Given the description of an element on the screen output the (x, y) to click on. 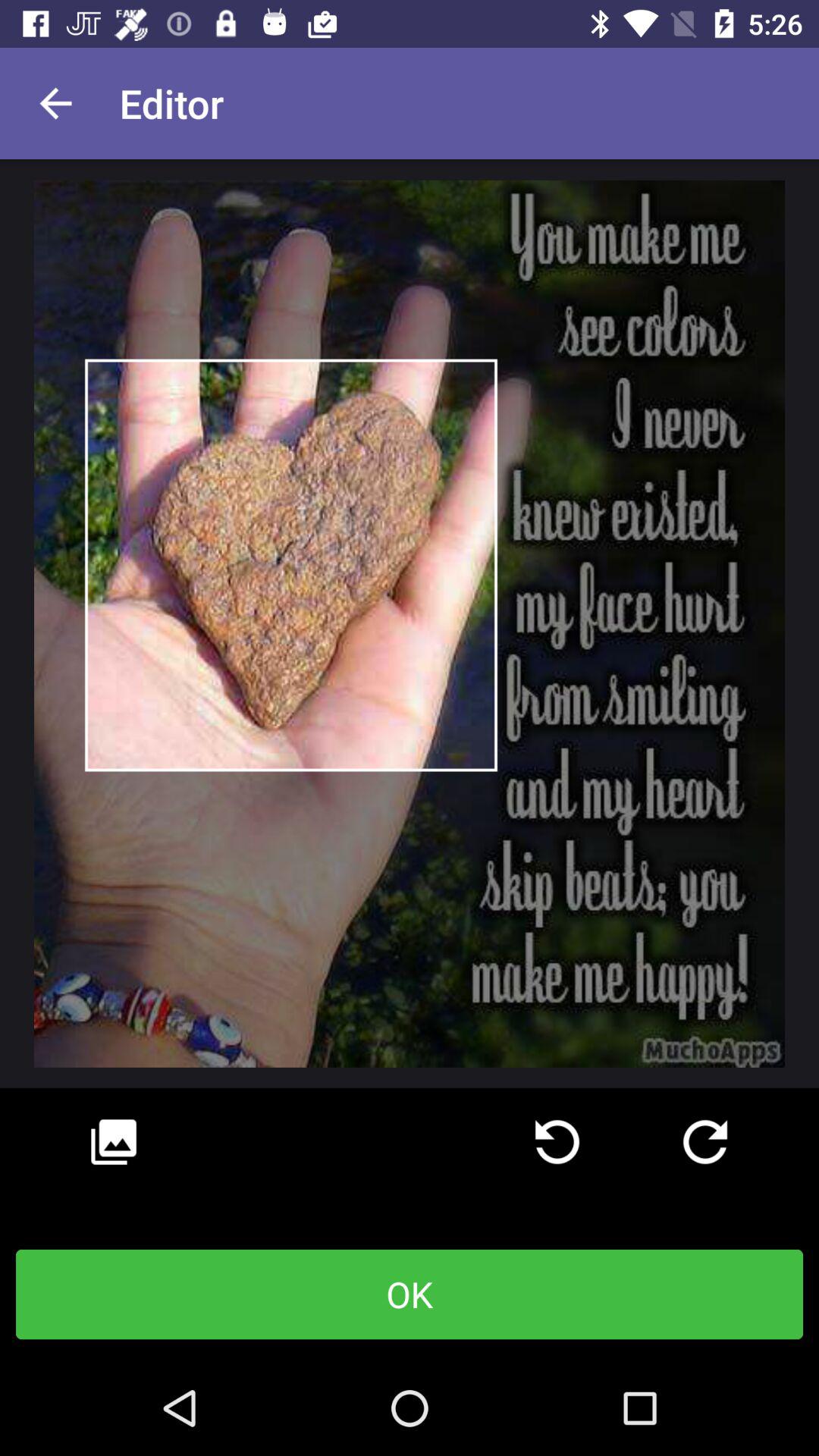
turn on the icon above the ok (557, 1142)
